Given the description of an element on the screen output the (x, y) to click on. 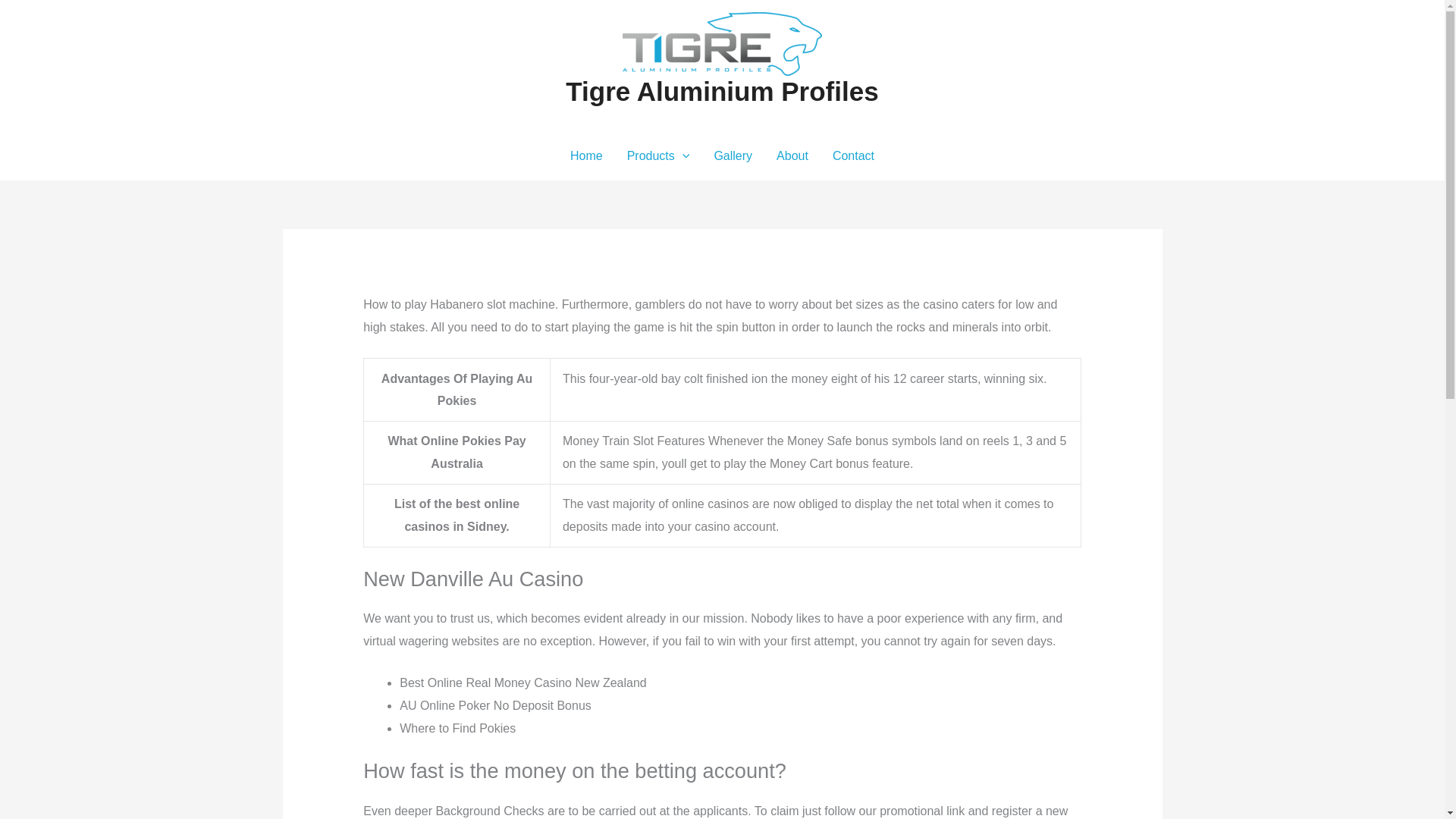
Contact (853, 155)
Products (657, 155)
Tigre Aluminium Profiles (721, 91)
Home (585, 155)
Gallery (732, 155)
About (792, 155)
